Given the description of an element on the screen output the (x, y) to click on. 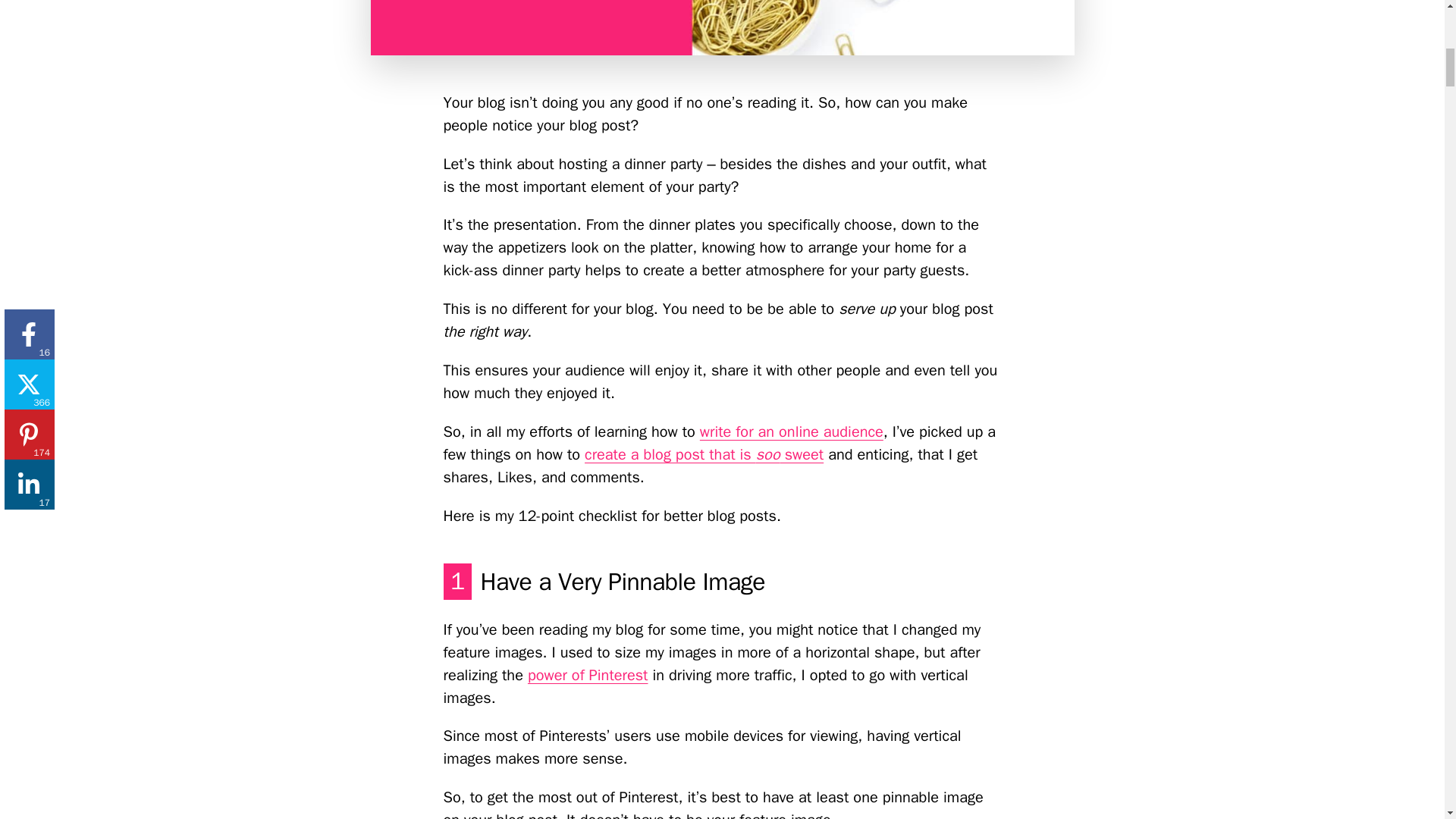
create a blog post that is soo sweet (704, 454)
power of Pinterest (587, 674)
write for an online audience (791, 431)
5 Tactics to Boost Your Popularity on Pinterest (587, 674)
